Given the description of an element on the screen output the (x, y) to click on. 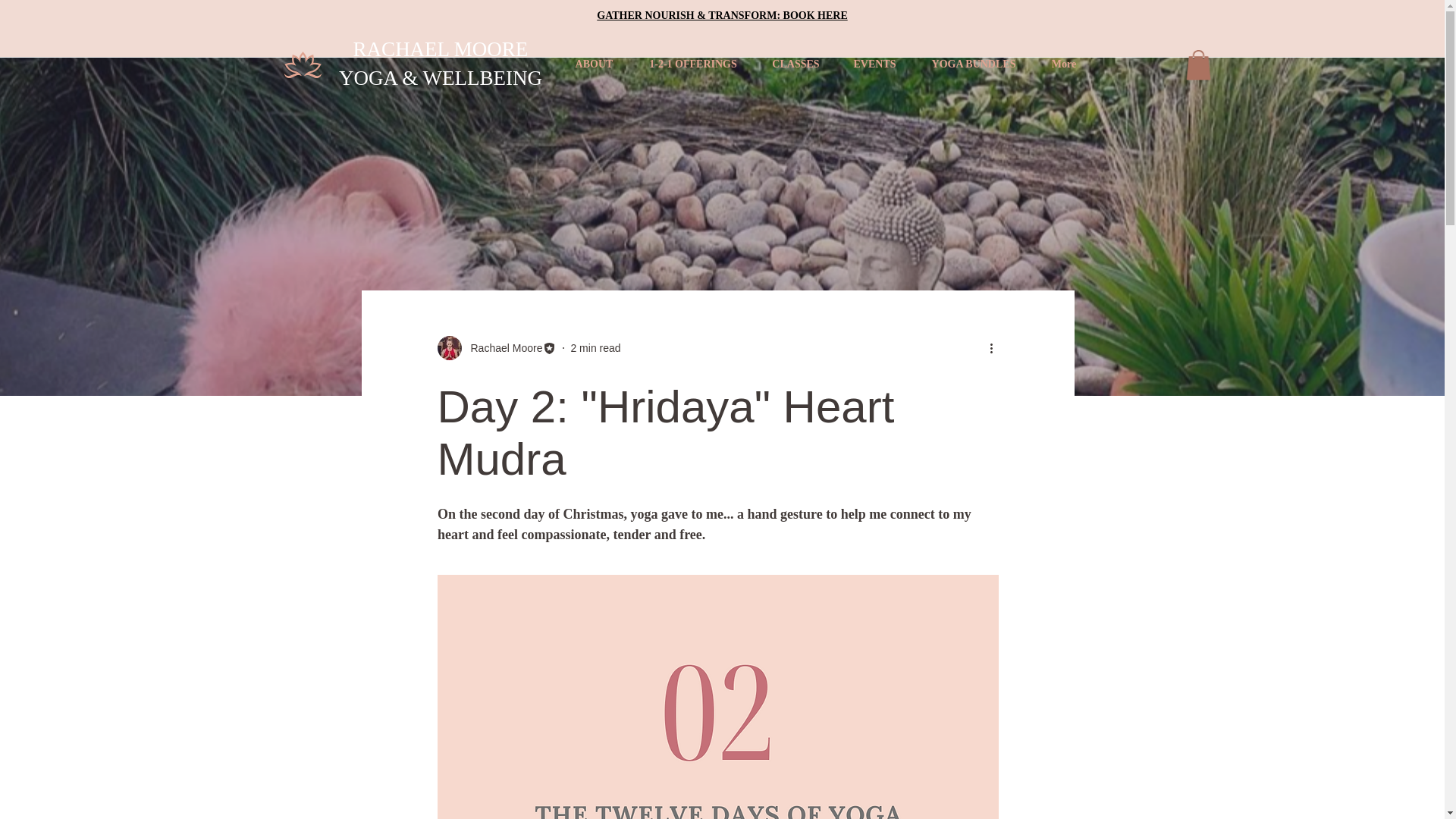
Rachael Moore (496, 347)
YOGA BUNDLES (972, 64)
2 min read (595, 347)
1-2-1 OFFERINGS (692, 64)
Rachael Moore (501, 348)
EVENTS (873, 64)
CLASSES (795, 64)
ABOUT (593, 64)
